Given the description of an element on the screen output the (x, y) to click on. 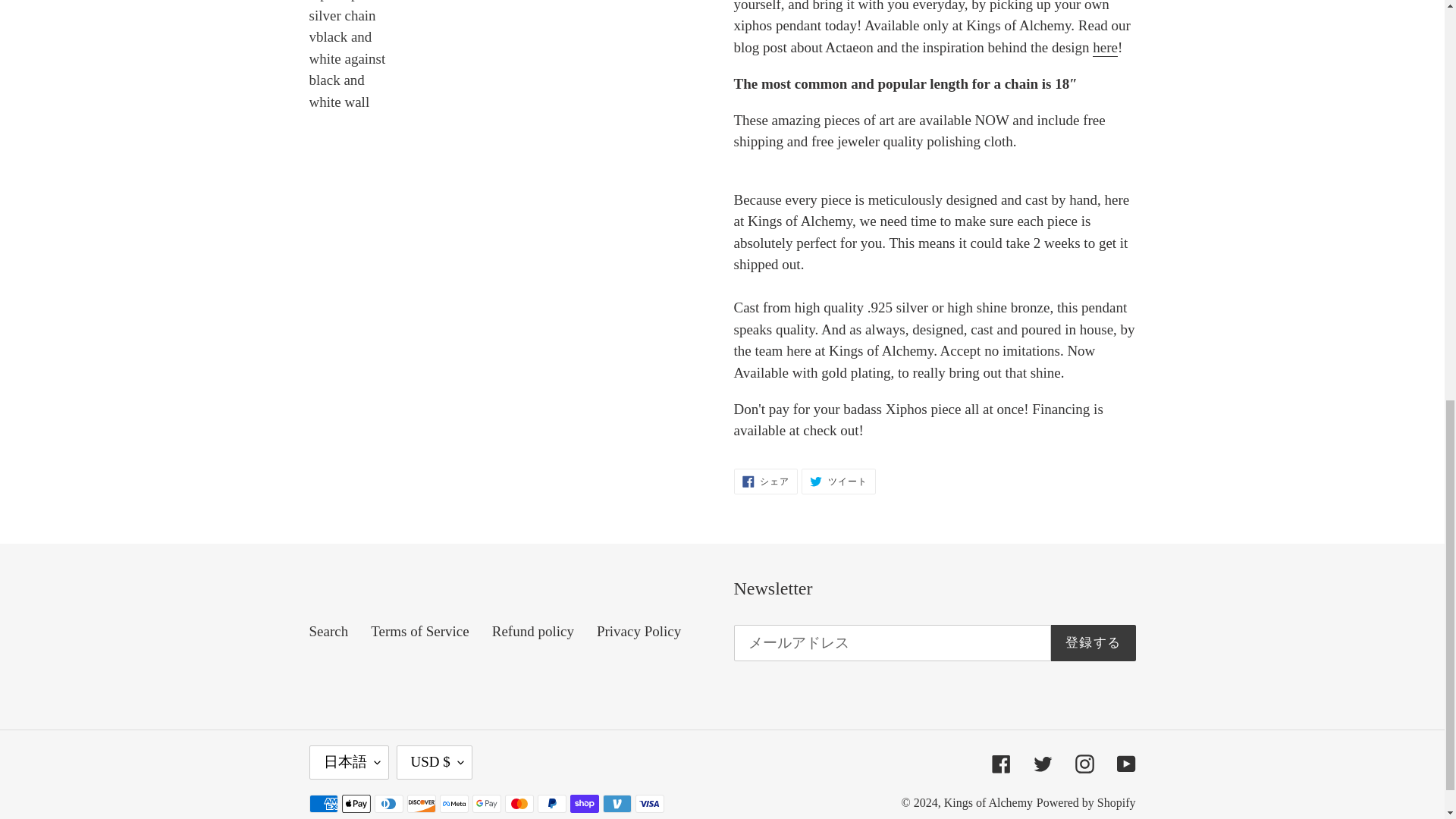
Actaeons Misfortune (1105, 47)
